Given the description of an element on the screen output the (x, y) to click on. 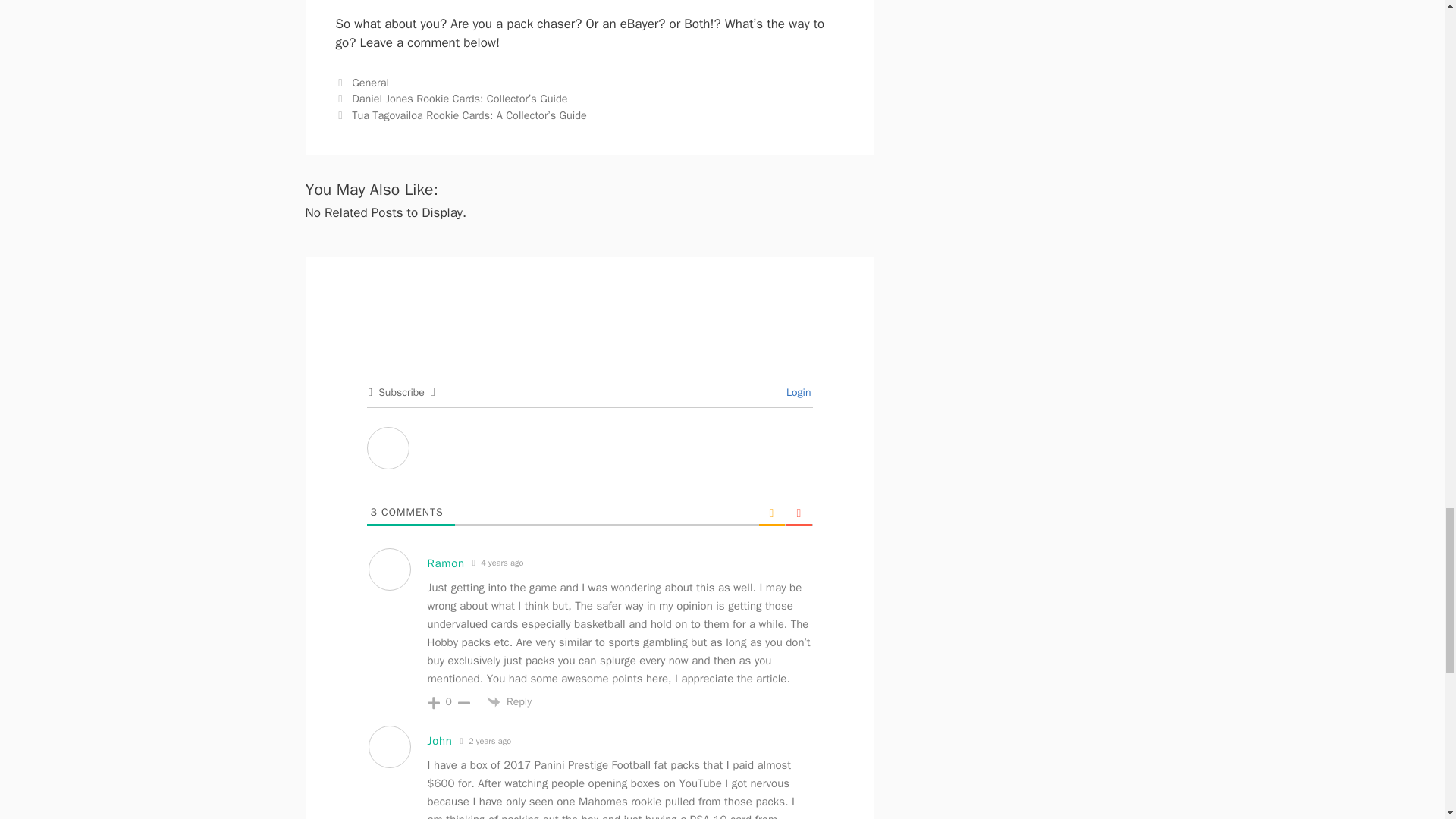
Next (460, 115)
Login (795, 391)
General (370, 82)
Previous (450, 98)
